Given the description of an element on the screen output the (x, y) to click on. 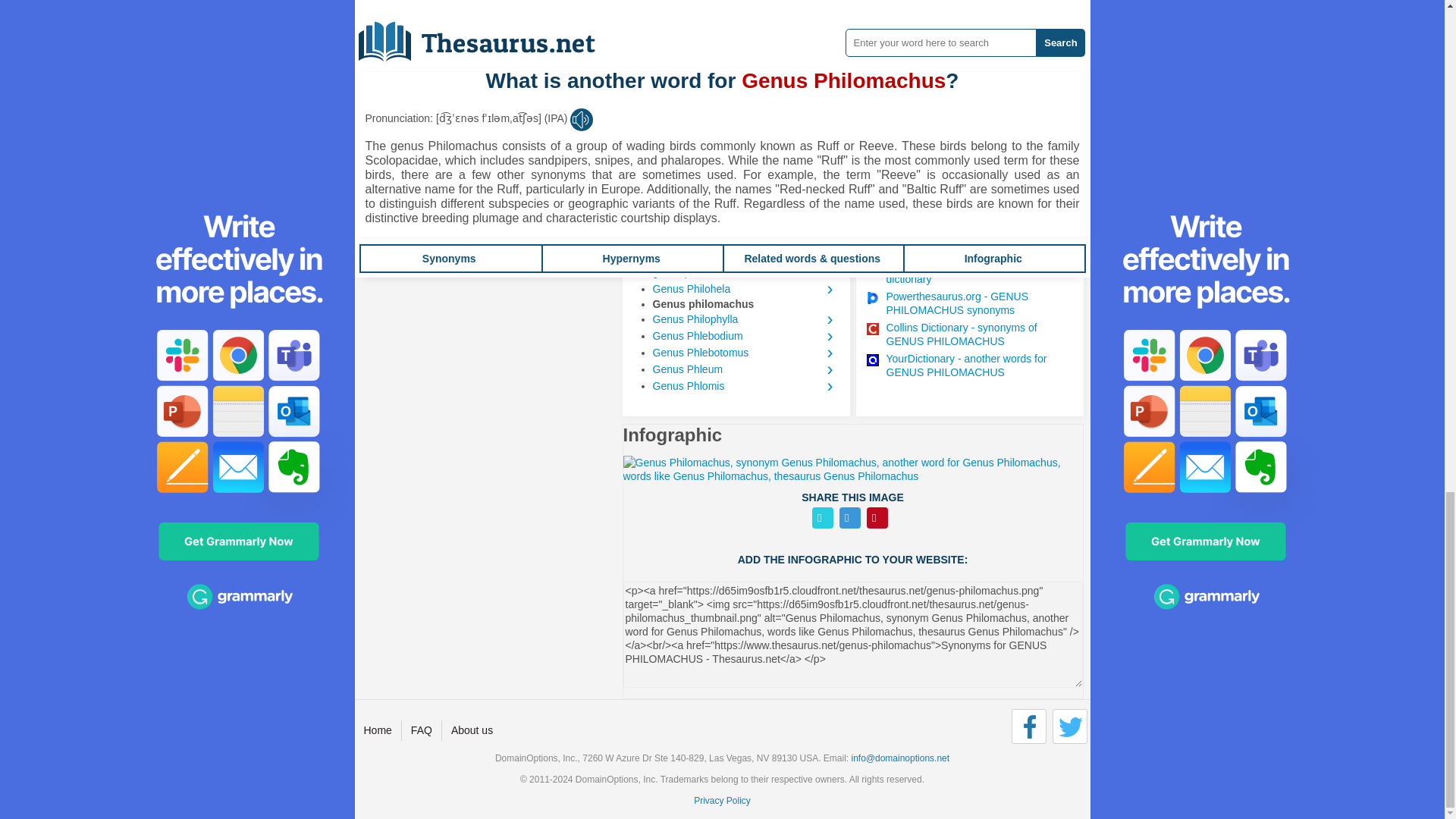
Genus Phleum (745, 369)
Genus Philadelphus (745, 221)
Genus Philaenus (745, 238)
Genus Phlebotomus (745, 352)
More (648, 140)
GENUS PHILOMACHUS synonyms at Thesaurus.com (978, 226)
genus philodendron (745, 271)
Genus Philophylla (745, 319)
Genus Phlebodium (745, 335)
Genus Phillyrea (745, 255)
Genus Phlomis (745, 385)
Genus Philohela (745, 288)
